Given the description of an element on the screen output the (x, y) to click on. 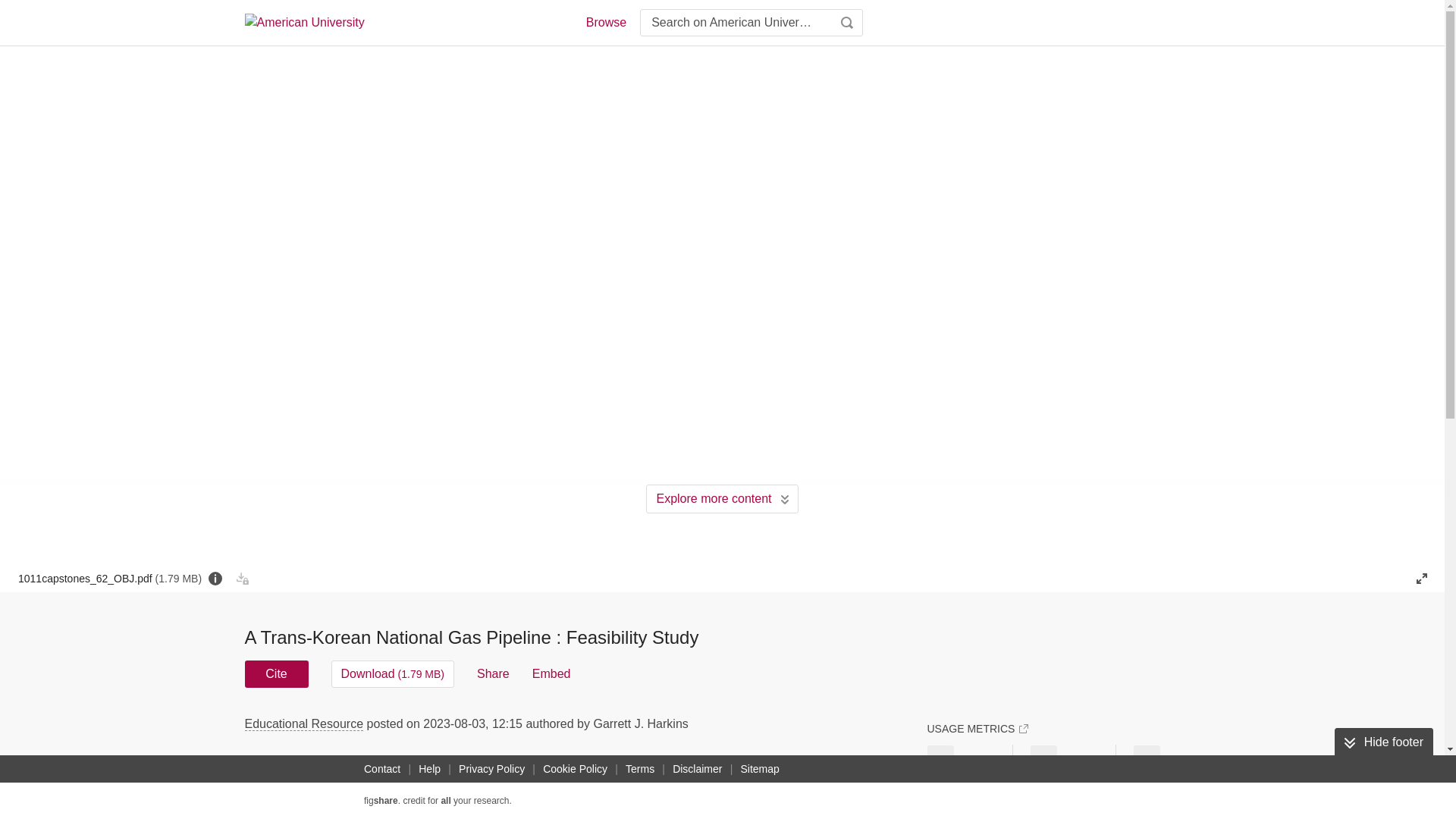
Embed (551, 673)
Help (429, 769)
USAGE METRICS (976, 728)
Sitemap (759, 769)
Explore more content (721, 498)
Contact (381, 769)
Cite (275, 673)
Cookie Policy (574, 769)
Hide footer (1383, 742)
Privacy Policy (491, 769)
Share (493, 673)
Browse (605, 22)
Terms (640, 769)
Disclaimer (697, 769)
